Given the description of an element on the screen output the (x, y) to click on. 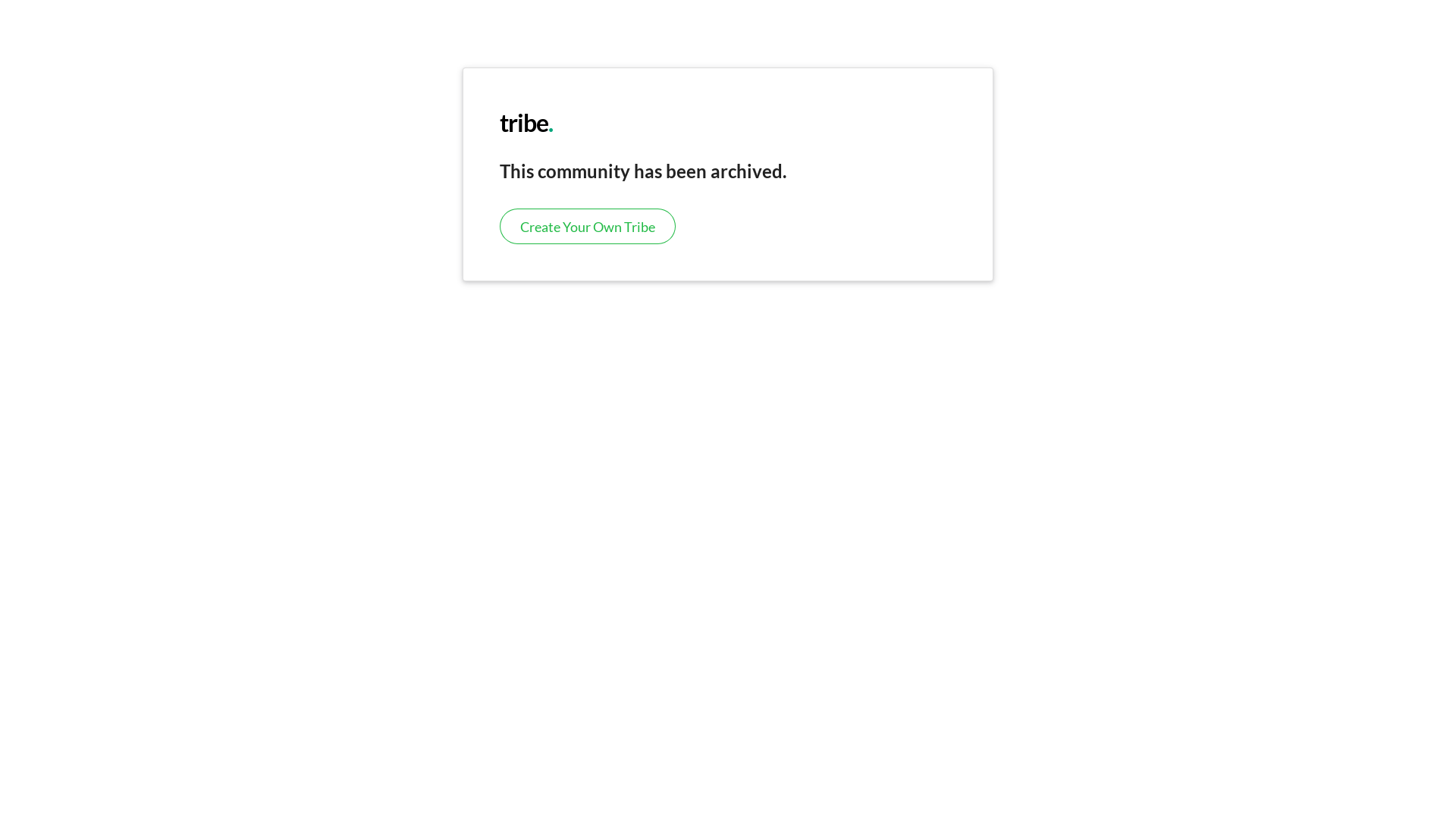
Create Your Own Tribe Element type: text (587, 225)
